Given the description of an element on the screen output the (x, y) to click on. 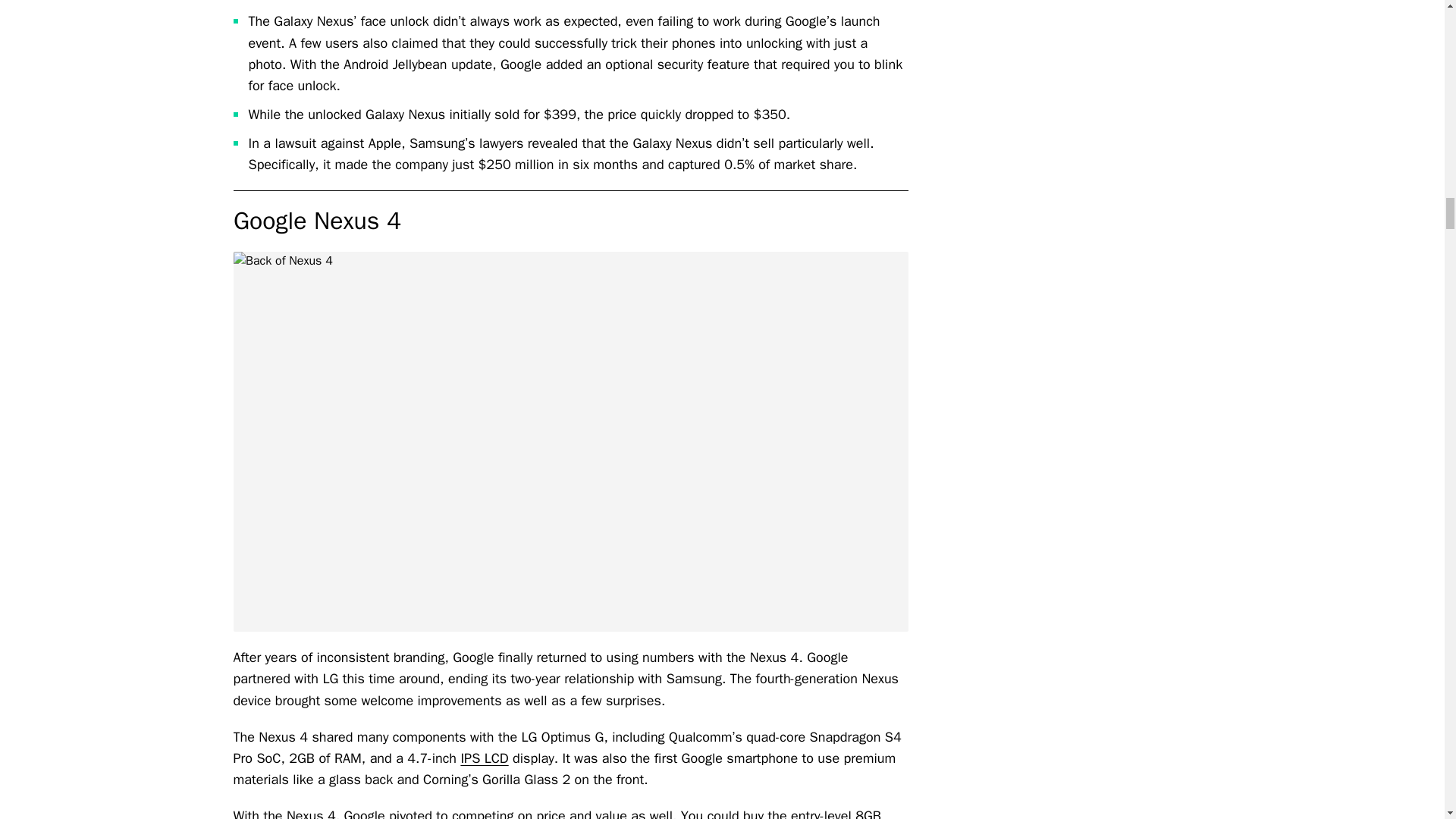
IPS LCD (484, 758)
